Given the description of an element on the screen output the (x, y) to click on. 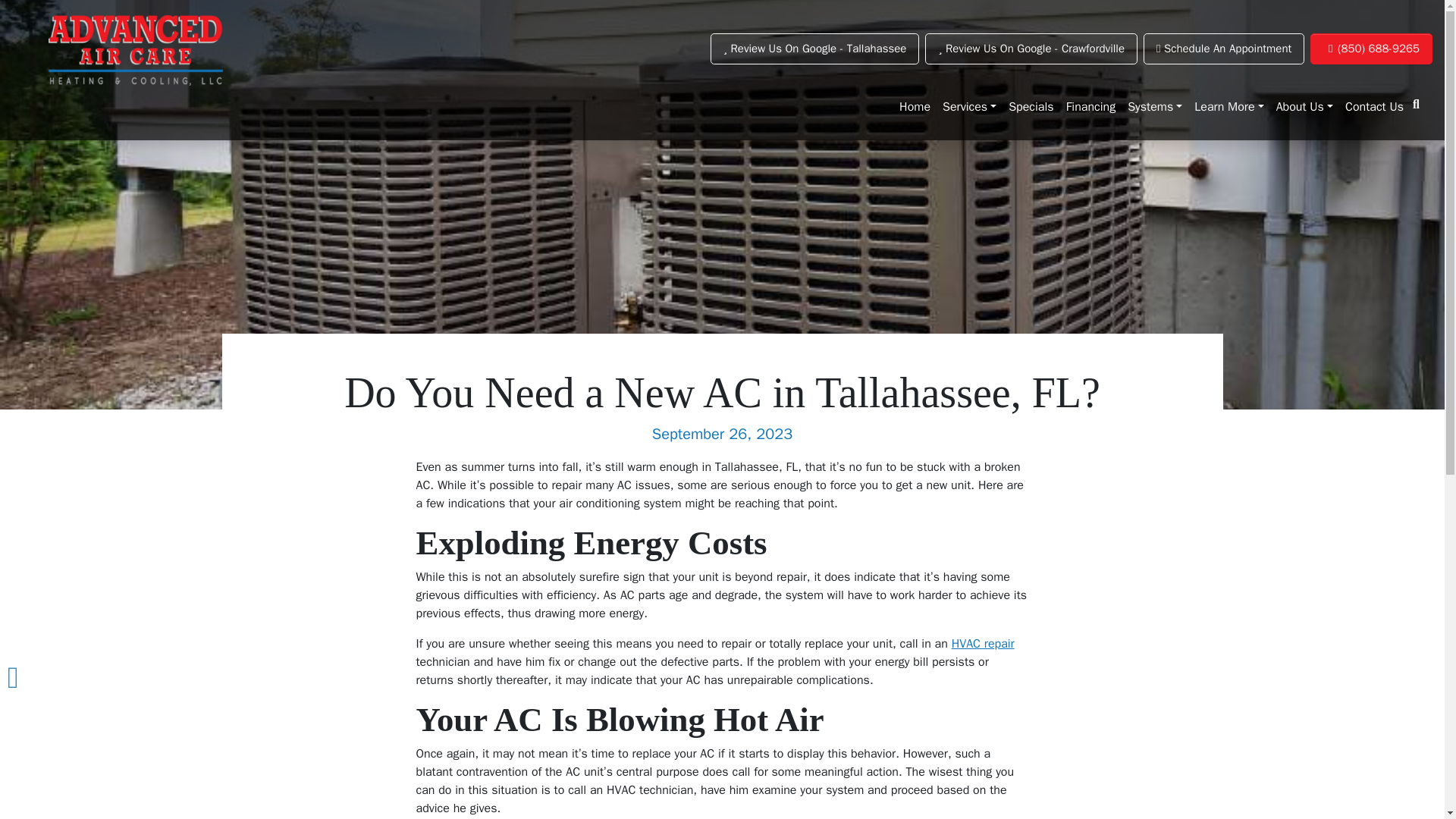
Schedule An Appointment (1223, 48)
Systems (1154, 106)
Review Us On Google - Tallahassee (814, 48)
Review Us On Google - Crawfordville (1030, 48)
Specials (1031, 106)
Services (969, 106)
Home (914, 106)
Learn More (1228, 106)
Financing (1090, 106)
